Given the description of an element on the screen output the (x, y) to click on. 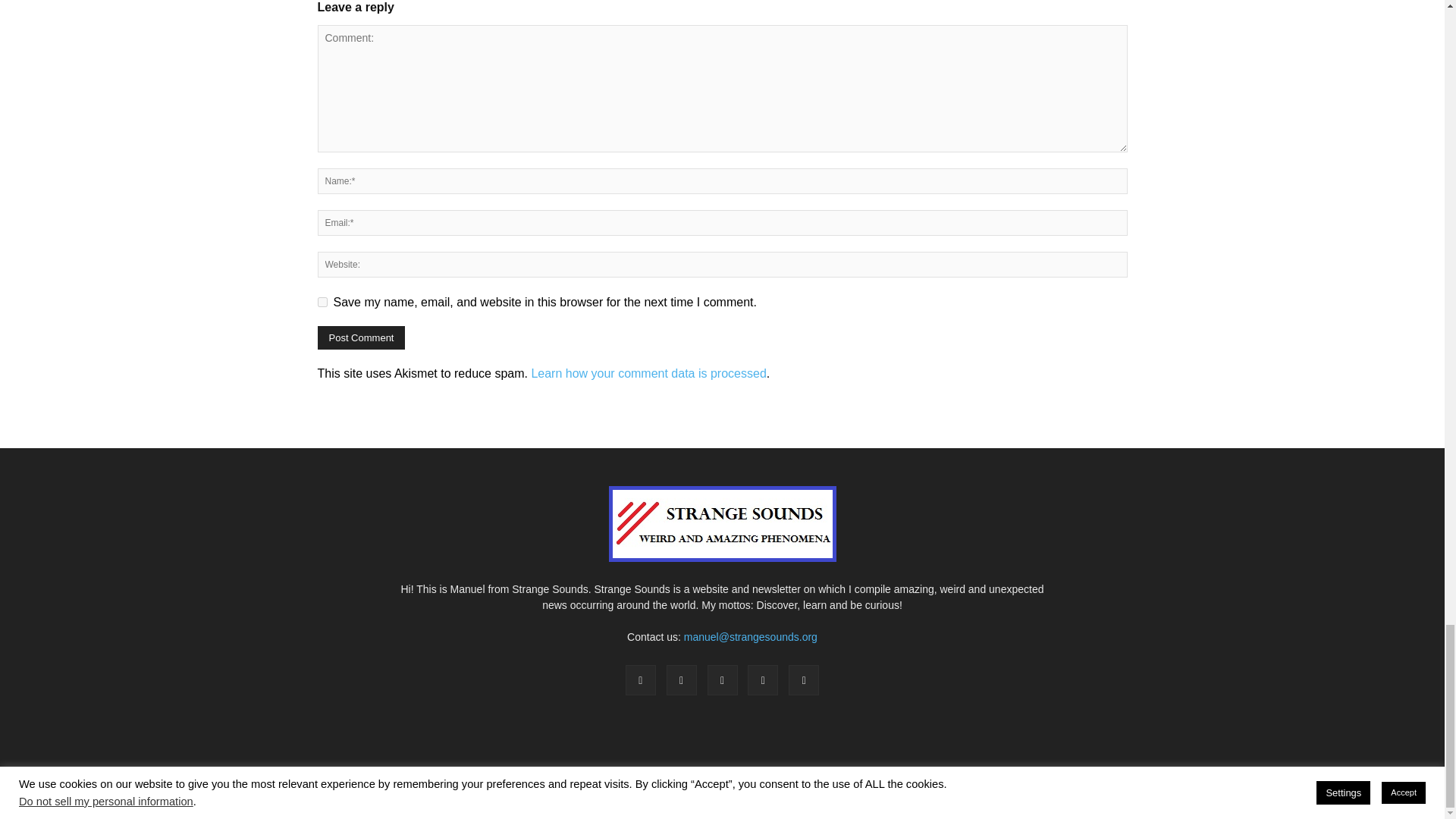
yes (321, 302)
Post Comment (360, 337)
